Given the description of an element on the screen output the (x, y) to click on. 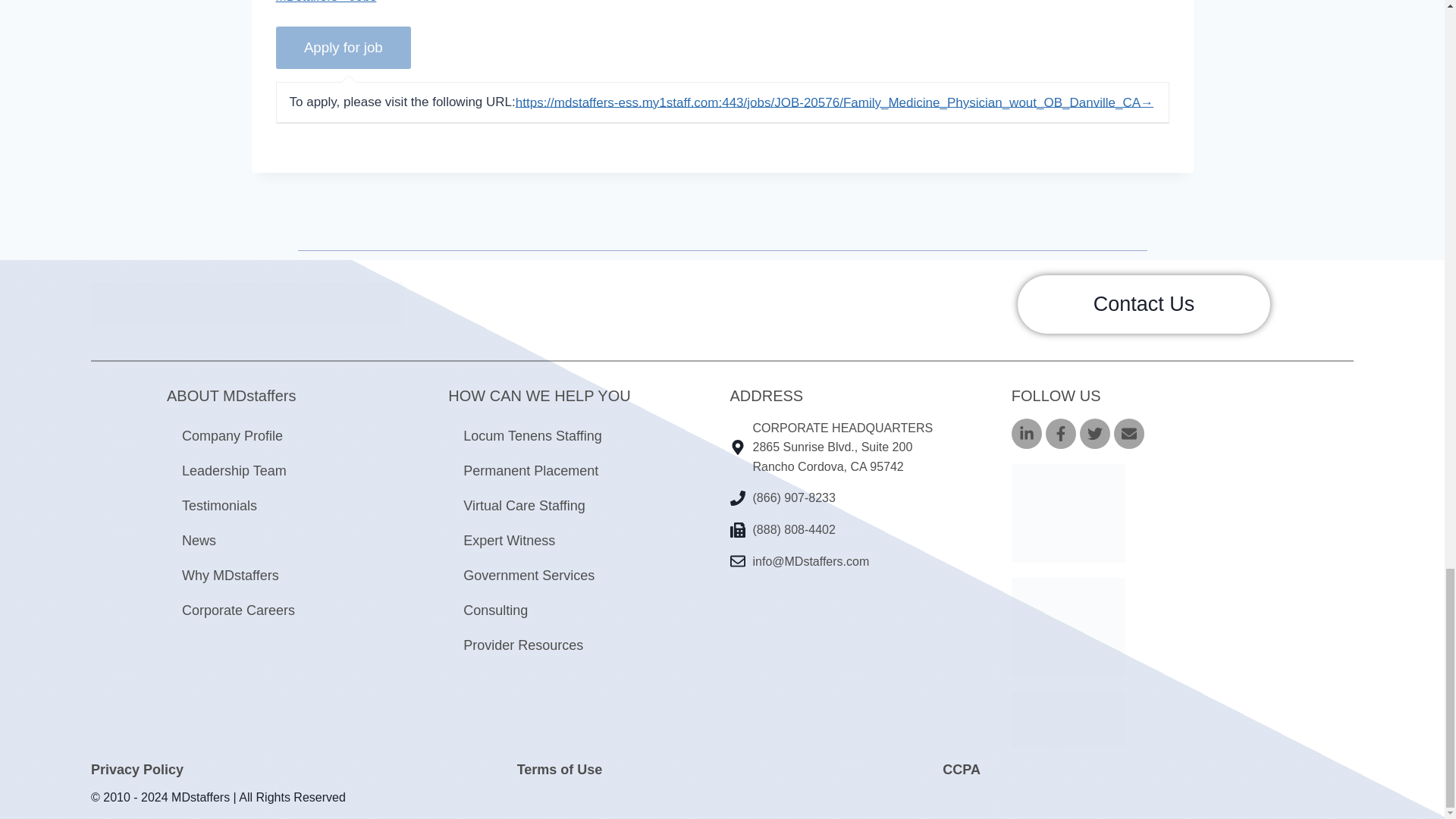
MDstaffers - Jobs (326, 2)
Apply for job (344, 47)
